Given the description of an element on the screen output the (x, y) to click on. 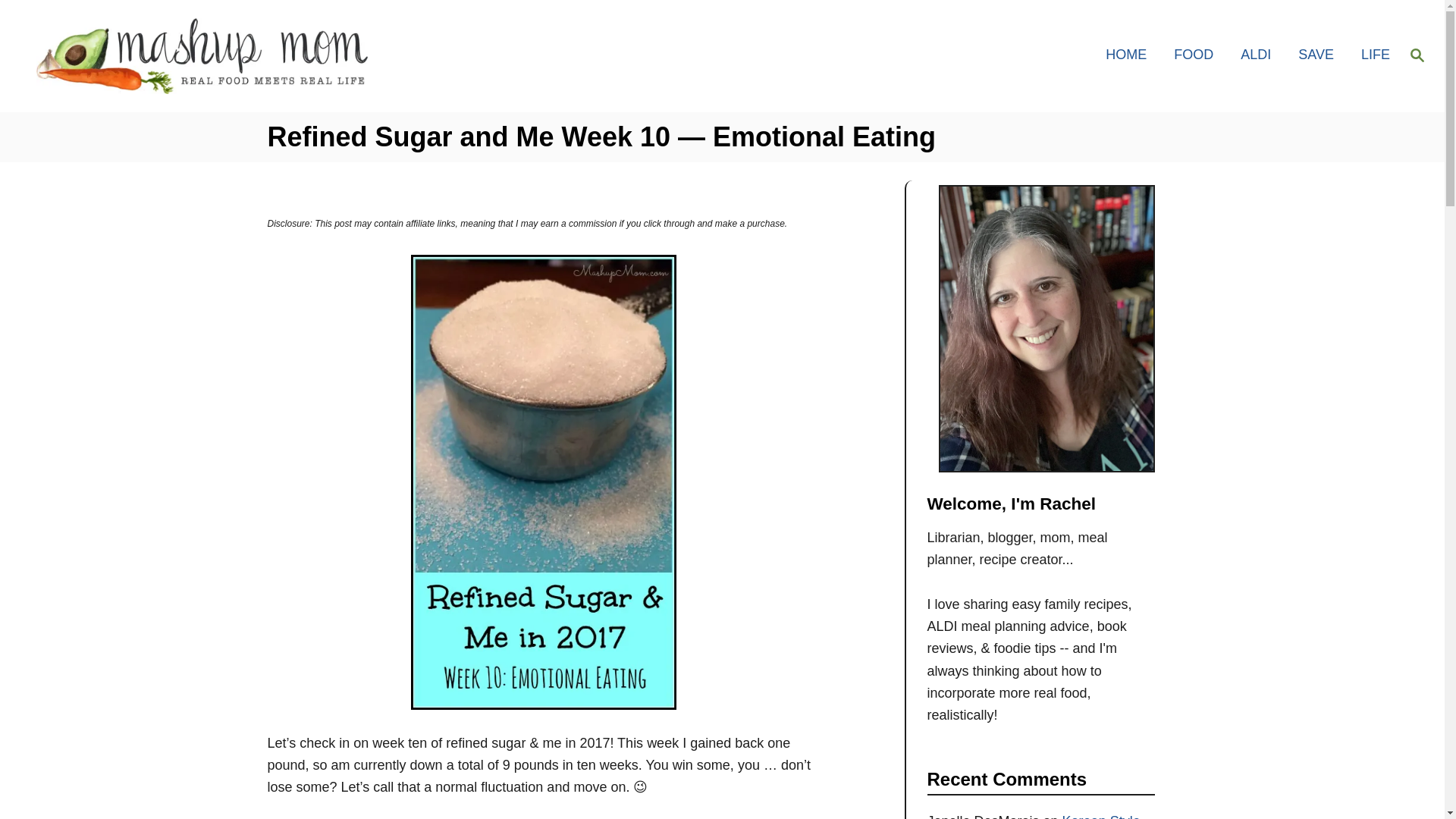
HOME (1130, 54)
ALDI (1259, 54)
Magnifying Glass (1416, 54)
SAVE (1320, 54)
FOOD (1197, 54)
LIFE (1371, 54)
Mashup Mom (204, 56)
